Given the description of an element on the screen output the (x, y) to click on. 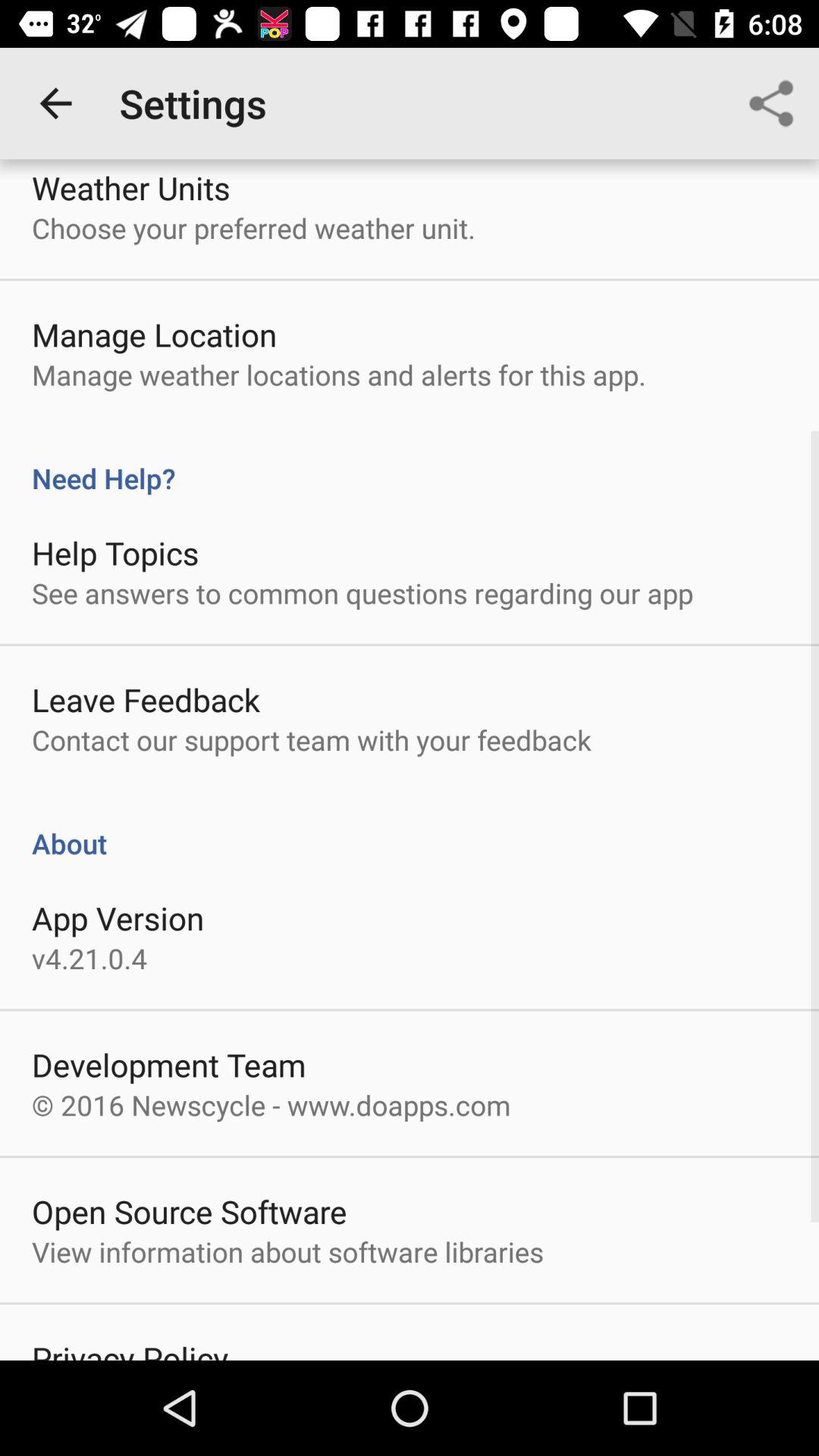
choose icon above leave feedback item (362, 592)
